Given the description of an element on the screen output the (x, y) to click on. 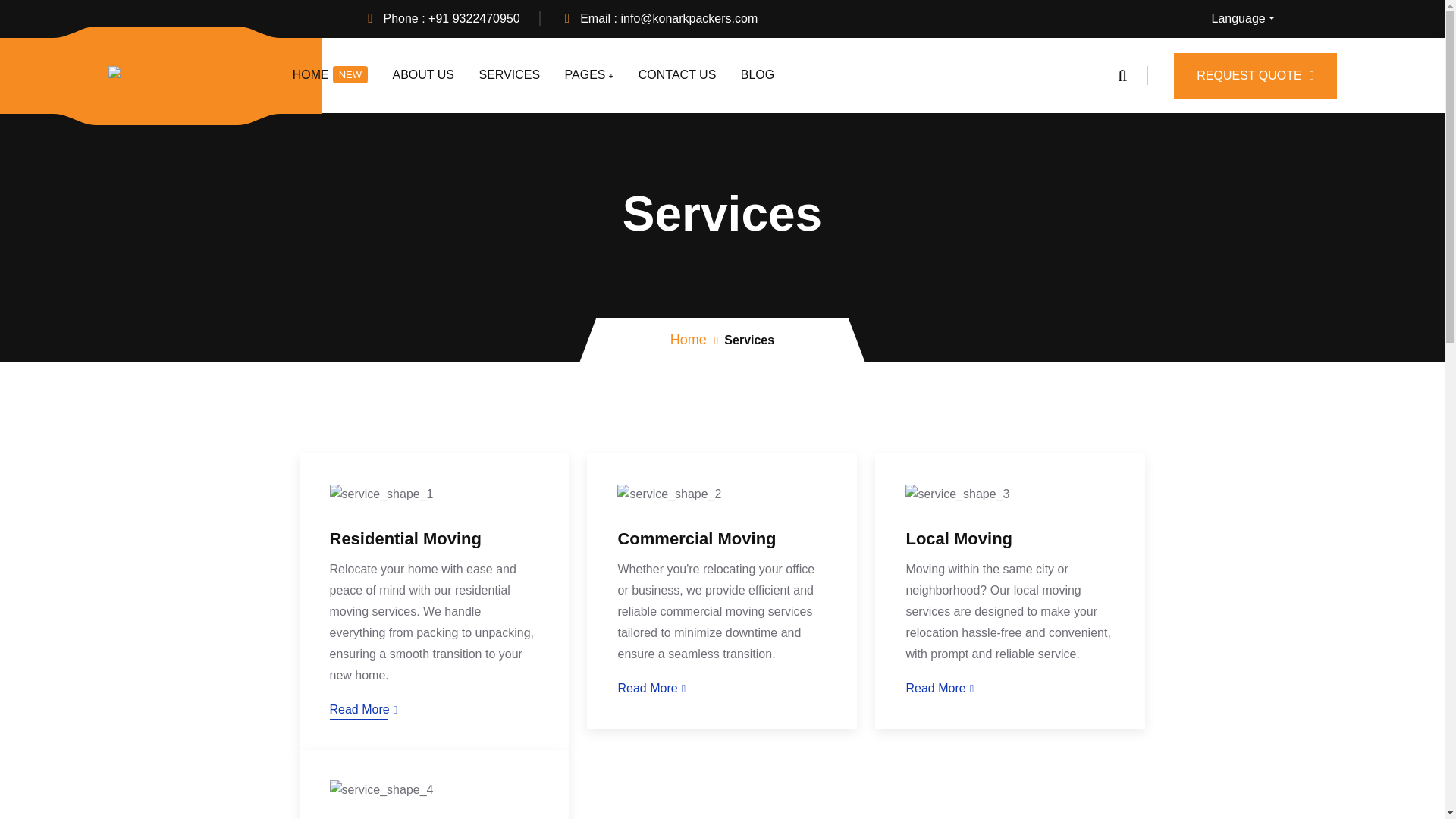
HOMENEW (330, 75)
Language (1262, 18)
